Given the description of an element on the screen output the (x, y) to click on. 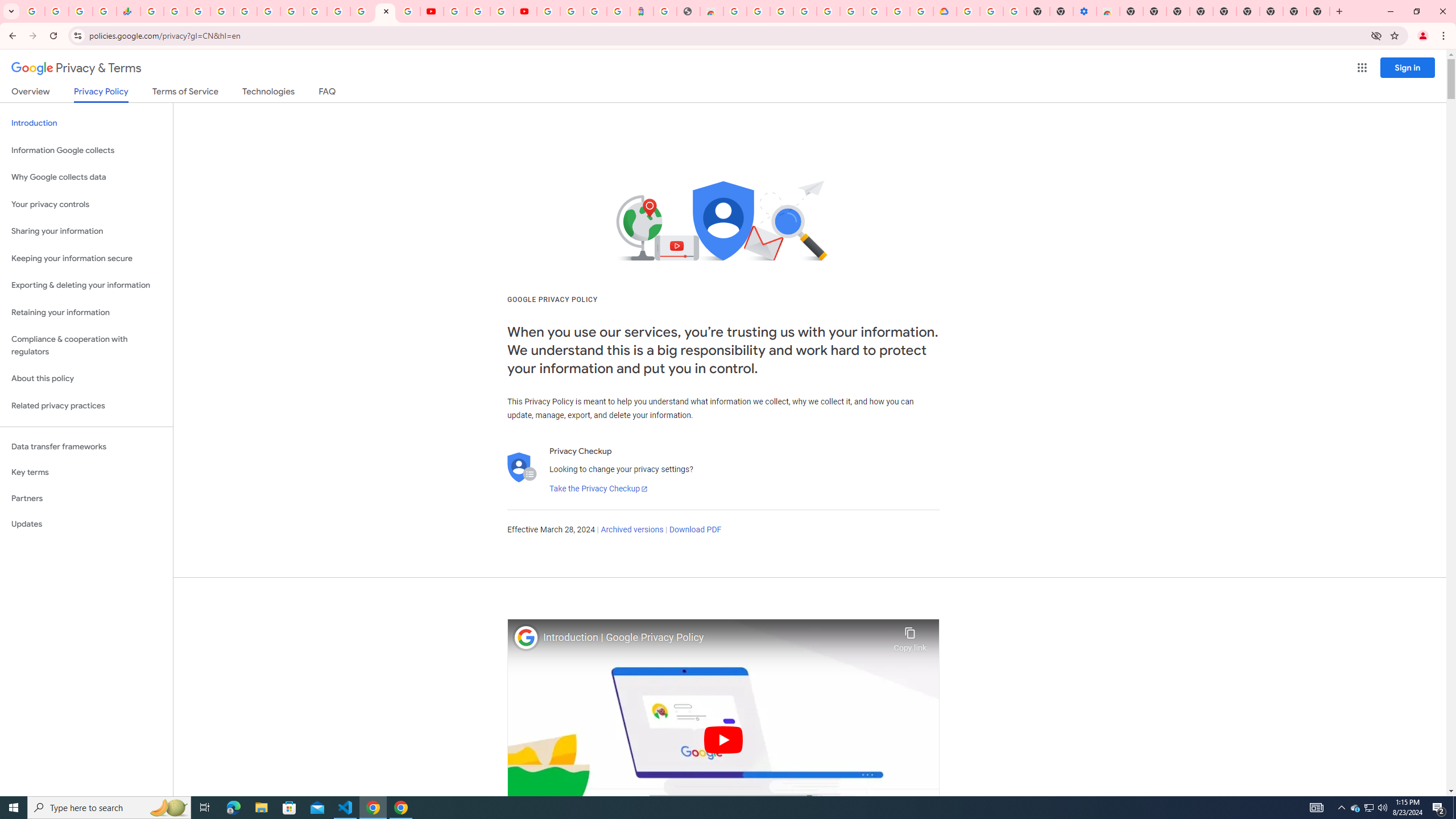
Partners (86, 497)
New Tab (1318, 11)
Information Google collects (86, 150)
Compliance & cooperation with regulators (86, 345)
Related privacy practices (86, 405)
Introduction | Google Privacy Policy (715, 637)
Chrome Web Store - Household (711, 11)
Sign in - Google Accounts (827, 11)
